Given the description of an element on the screen output the (x, y) to click on. 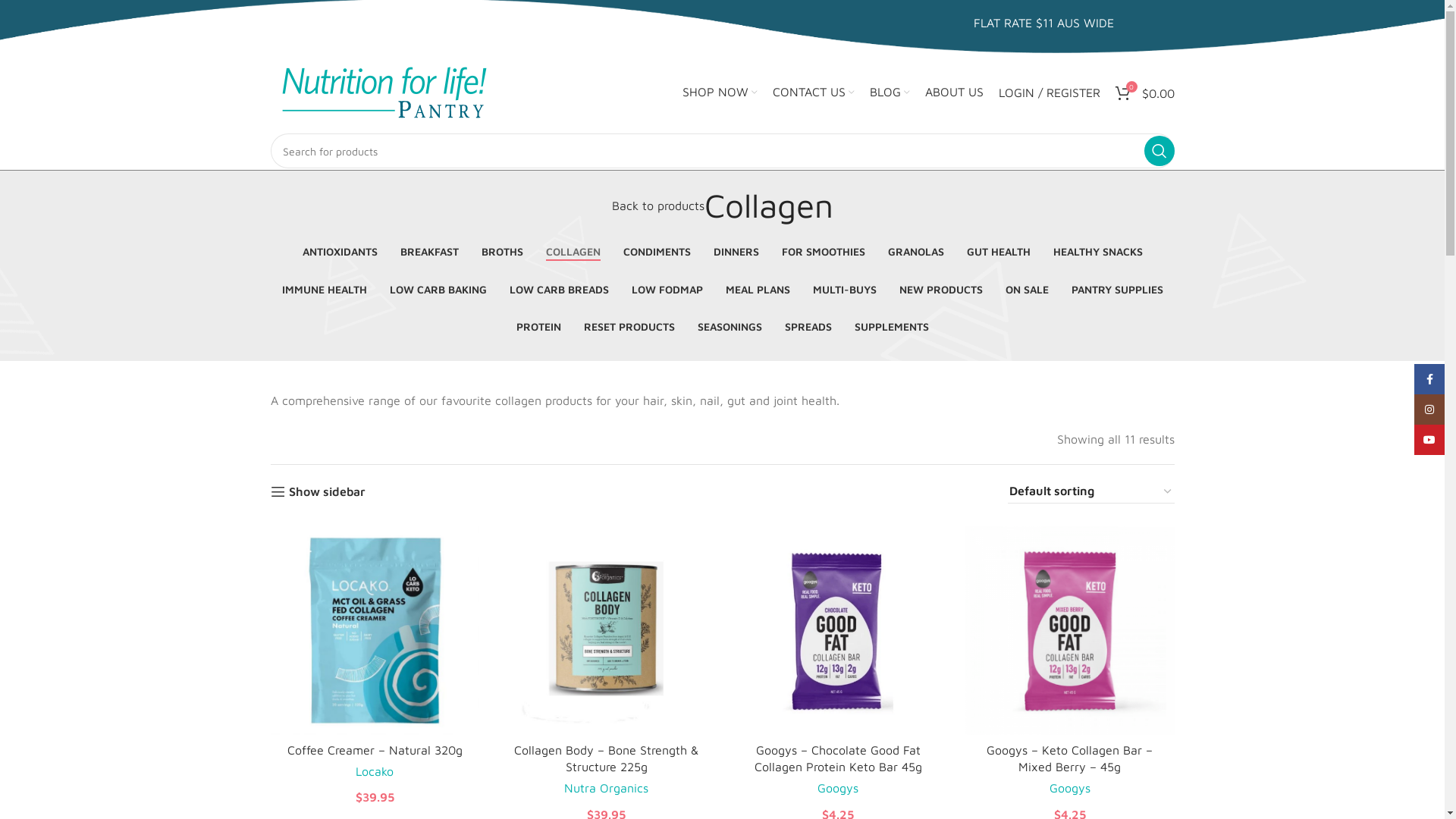
Locako Element type: text (374, 771)
BROTHS Element type: text (501, 251)
GRANOLAS Element type: text (915, 251)
Nutra Organics Element type: text (606, 787)
PANTRY SUPPLIES Element type: text (1116, 289)
SEARCH Element type: text (1158, 150)
IMMUNE HEALTH Element type: text (324, 289)
Googys Element type: text (837, 787)
NEW PRODUCTS Element type: text (940, 289)
FOR SMOOTHIES Element type: text (822, 251)
SEASONINGS Element type: text (729, 326)
SPREADS Element type: text (807, 326)
LOGIN / REGISTER Element type: text (1048, 92)
GUT HEALTH Element type: text (997, 251)
ANTIOXIDANTS Element type: text (338, 251)
PROTEIN Element type: text (537, 326)
Googys Element type: text (1069, 787)
Show sidebar Element type: text (317, 491)
SHOP NOW Element type: text (719, 92)
MEAL PLANS Element type: text (756, 289)
HEALTHY SNACKS Element type: text (1097, 251)
ABOUT US Element type: text (954, 92)
LOW CARB BREADS Element type: text (558, 289)
DINNERS Element type: text (735, 251)
Get my 10% Code now Element type: text (84, 19)
SUPPLEMENTS Element type: text (890, 326)
BREAKFAST Element type: text (429, 251)
LOW FODMAP Element type: text (666, 289)
RESET PRODUCTS Element type: text (628, 326)
ON SALE Element type: text (1026, 289)
Log in Element type: text (976, 343)
Search for products Element type: hover (721, 150)
CONTACT US Element type: text (812, 92)
0
$0.00 Element type: text (1144, 92)
MULTI-BUYS Element type: text (844, 289)
COLLAGEN Element type: text (573, 251)
BLOG Element type: text (889, 92)
CONDIMENTS Element type: text (656, 251)
LOW CARB BAKING Element type: text (437, 289)
Back to products Element type: text (657, 206)
